Given the description of an element on the screen output the (x, y) to click on. 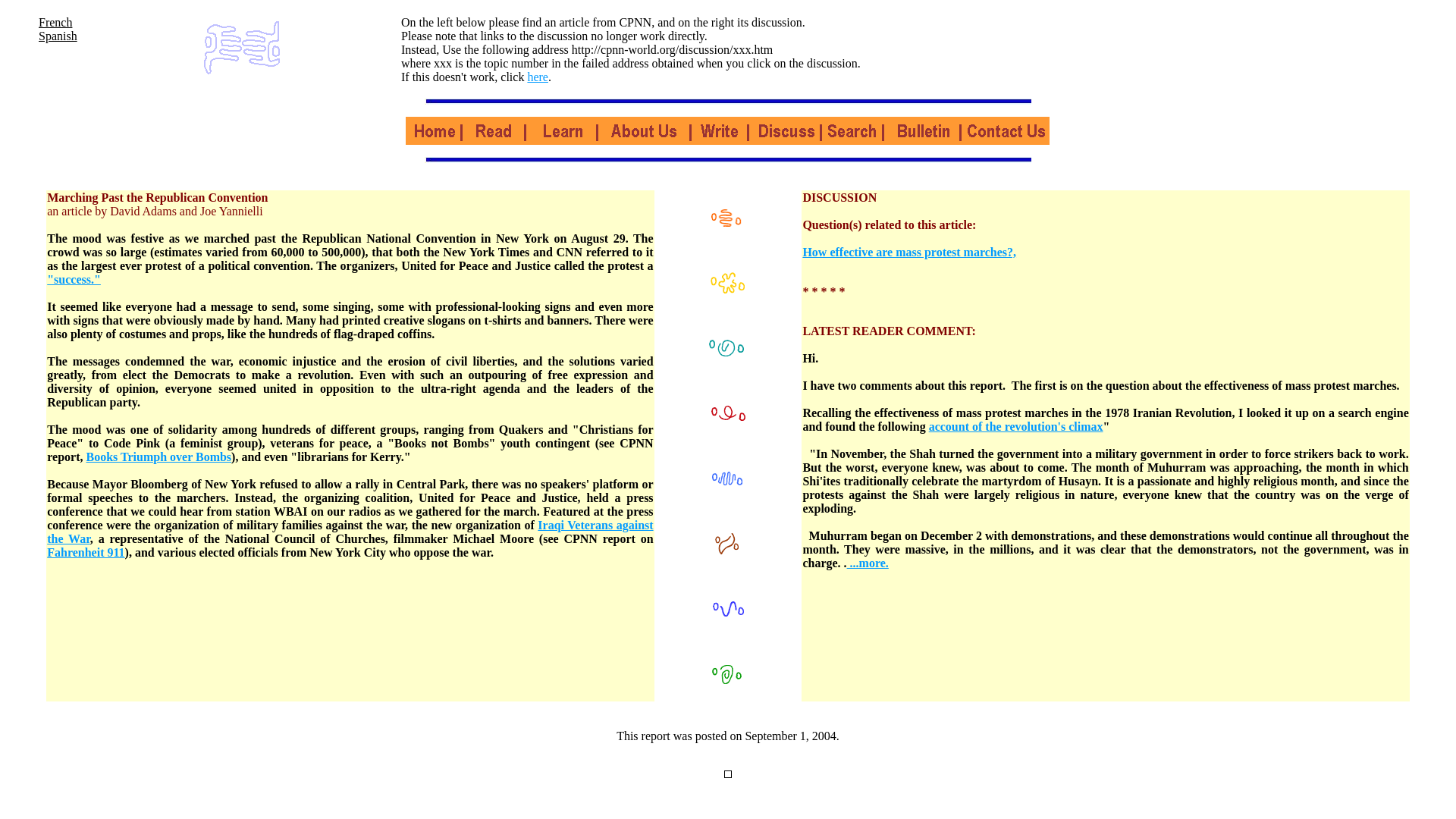
Iraqi Veterans against the War (349, 531)
account of the revolution's climax (1015, 426)
"success." (73, 278)
here (537, 76)
Books Triumph over Bombs (158, 456)
French (55, 21)
Spanish (58, 35)
Fahrenheit 911 (84, 552)
...more. (867, 562)
How effective are mass protest marches?, (909, 251)
